Given the description of an element on the screen output the (x, y) to click on. 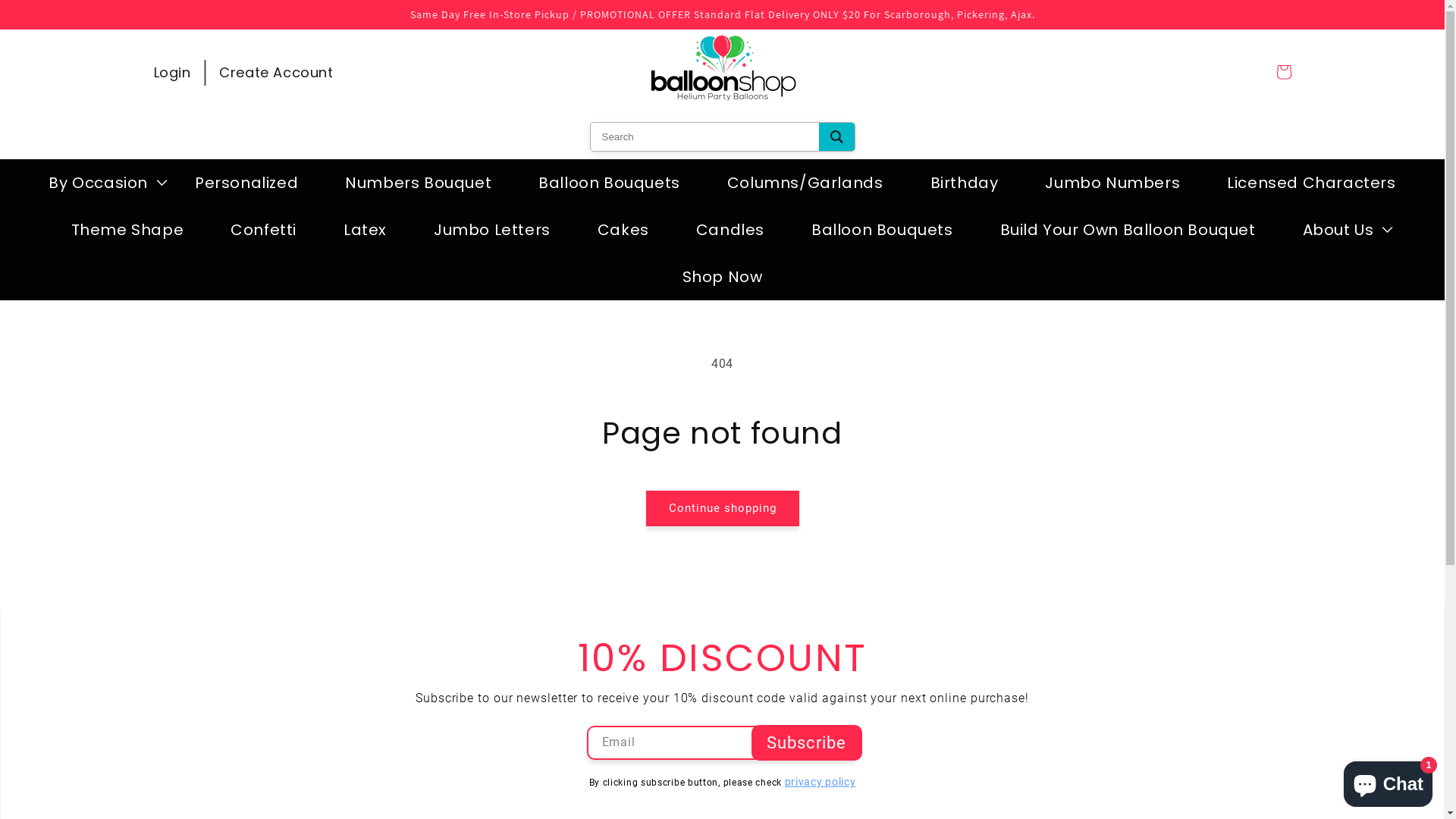
Personalized Element type: text (246, 182)
Numbers Bouquet Element type: text (417, 182)
Shop Now Element type: text (722, 276)
Confetti Element type: text (263, 229)
Subscribe Element type: text (806, 742)
Jumbo Letters Element type: text (492, 229)
Latex Element type: text (365, 229)
Build Your Own Balloon Bouquet Element type: text (1127, 229)
Balloon Bouquets Element type: text (608, 182)
privacy policy Element type: text (820, 781)
Licensed Characters Element type: text (1310, 182)
Jumbo Numbers Element type: text (1112, 182)
Login Element type: text (171, 71)
Balloon Bouquets Element type: text (881, 229)
Columns/Garlands Element type: text (804, 182)
Continue shopping Element type: text (722, 508)
Theme Shape Element type: text (127, 229)
Cart Element type: text (1282, 71)
Candles Element type: text (729, 229)
Cakes Element type: text (623, 229)
Create Account Element type: text (275, 71)
Shopify online store chat Element type: hover (1388, 780)
Birthday Element type: text (964, 182)
